Given the description of an element on the screen output the (x, y) to click on. 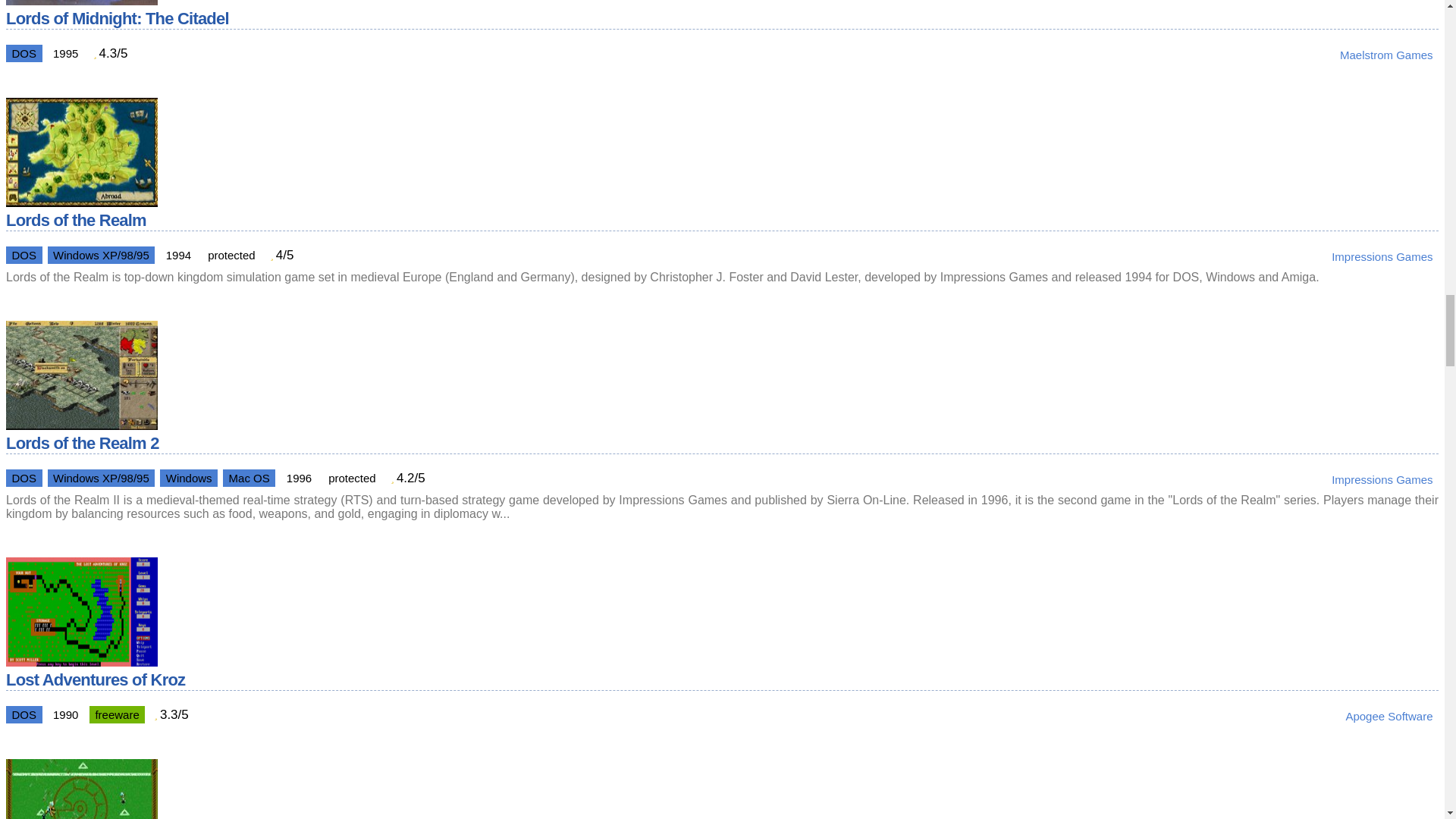
Lords of the Realm 2 (81, 425)
Lost Adventures of Kroz (81, 662)
Lords of Midnight: The Citadel (81, 4)
Lords of the Realm (81, 202)
